Given the description of an element on the screen output the (x, y) to click on. 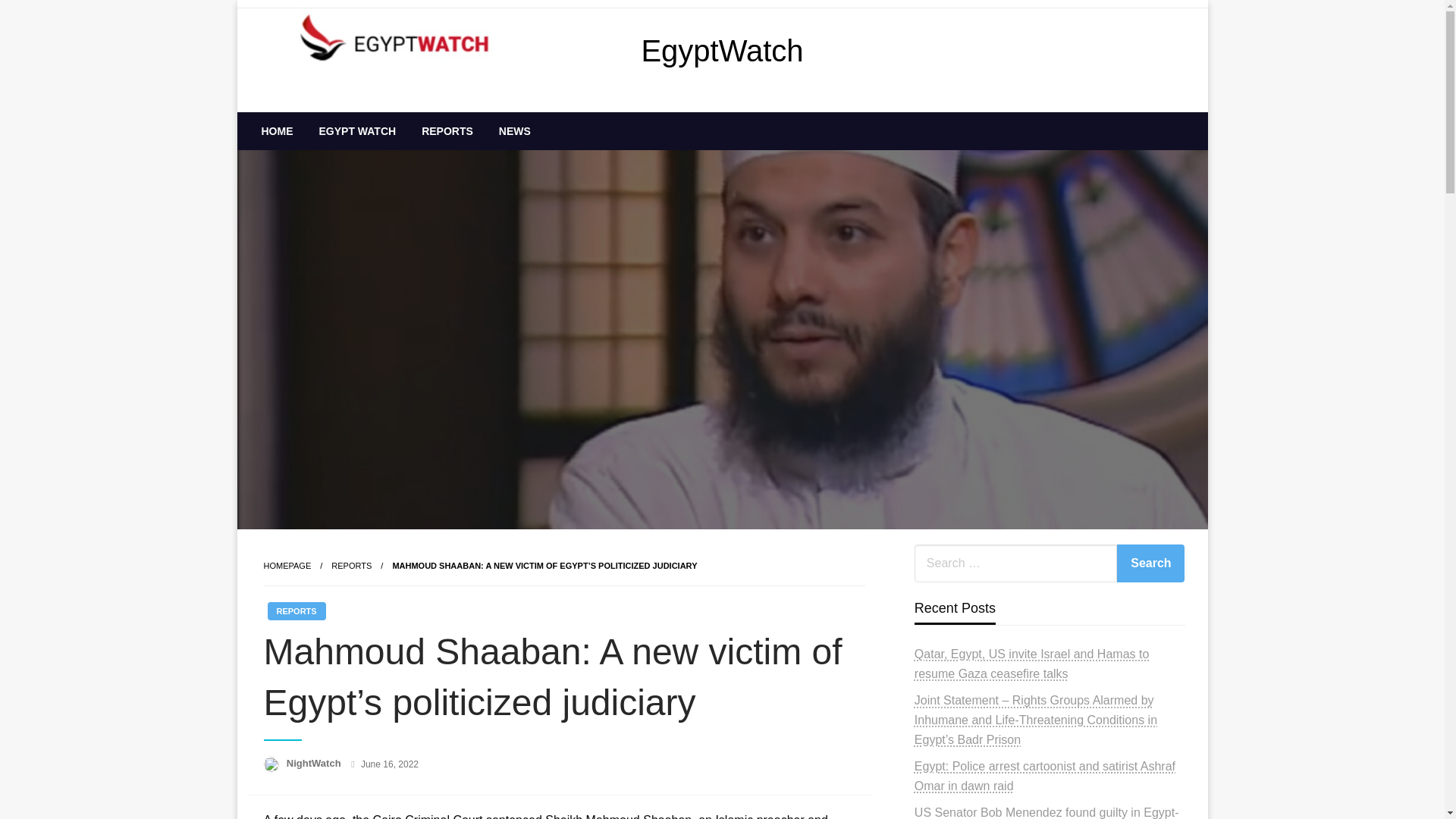
REPORTS (447, 130)
EgyptWatch (721, 50)
EGYPT WATCH (357, 130)
NightWatch (314, 763)
Search (1150, 563)
HOME (276, 130)
REPORTS (295, 610)
REPORTS (351, 565)
